Given the description of an element on the screen output the (x, y) to click on. 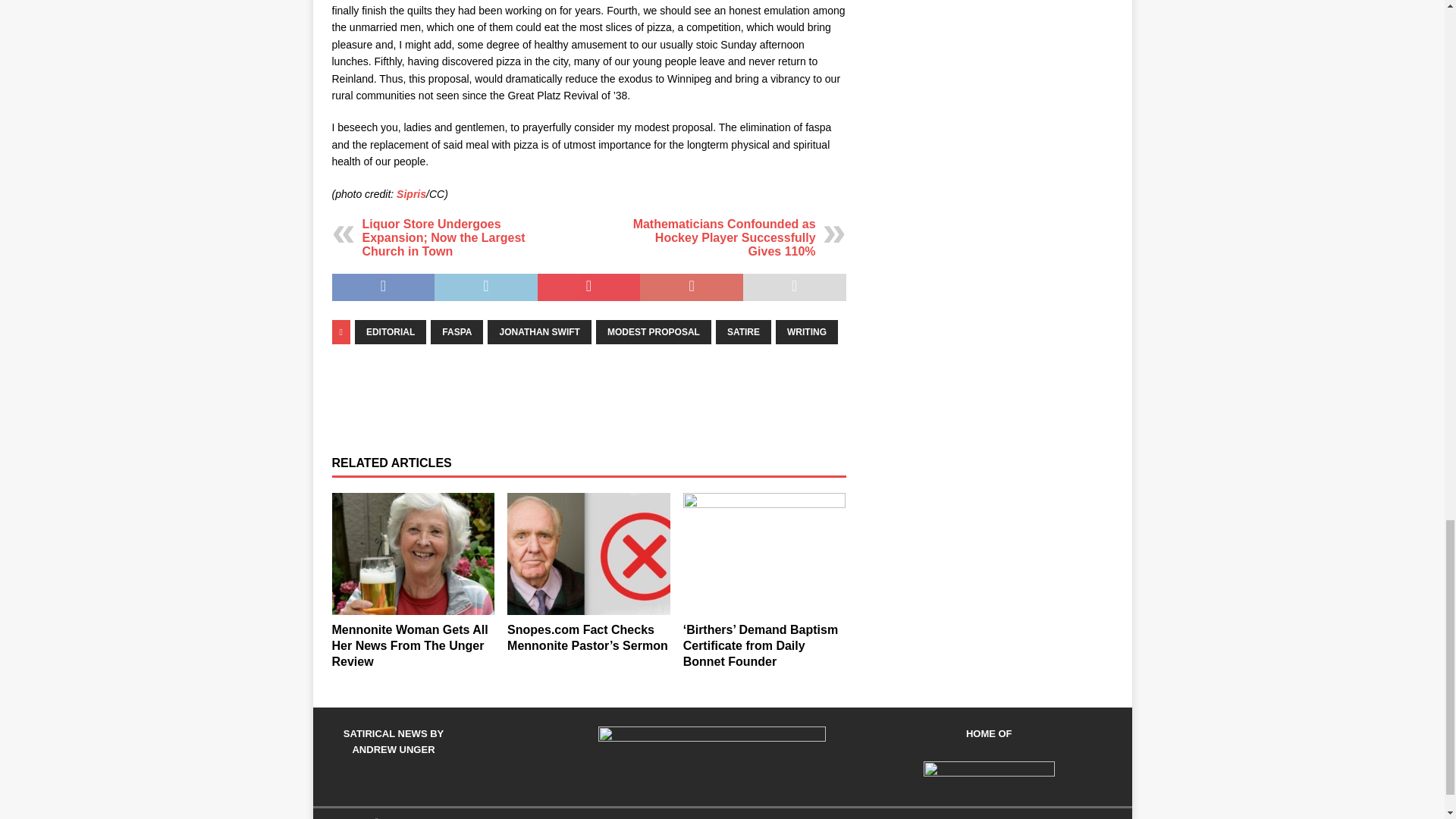
Mennonite Woman Gets All Her News From The Unger Review (409, 645)
Sipris (411, 193)
MODEST PROPOSAL (653, 331)
Mennonite Woman Gets All Her News From The Unger Review (413, 554)
Mennonite Woman Gets All Her News From The Unger Review (409, 645)
SATIRE (743, 331)
JONATHAN SWIFT (539, 331)
FASPA (456, 331)
EDITORIAL (390, 331)
WRITING (807, 331)
